Given the description of an element on the screen output the (x, y) to click on. 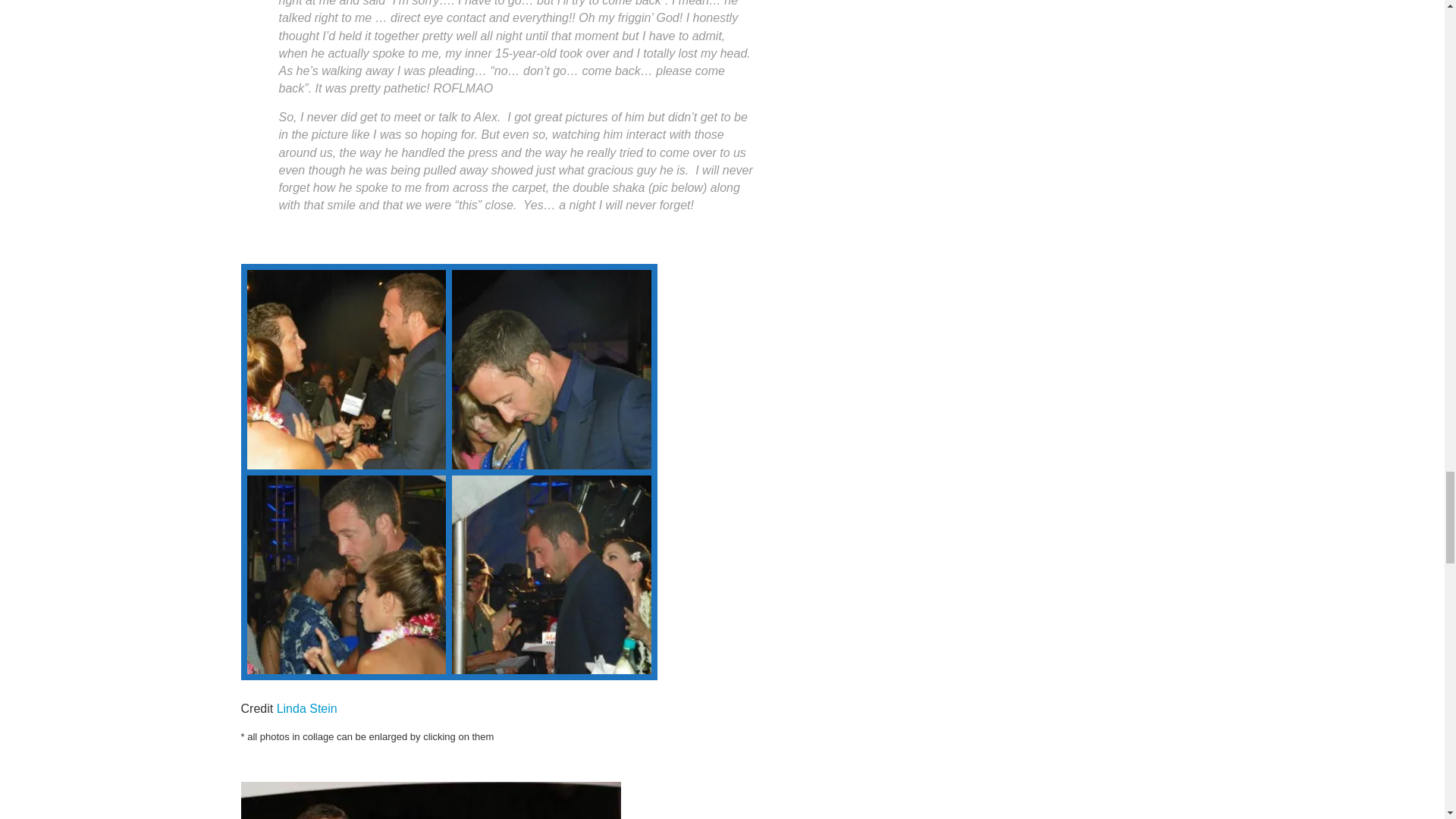
Sunset on the Beach fan experience- alex O'loughlin (346, 369)
Sunset on the Beach fan experience- alex O'loughlin (337, 375)
Sunset on the Beach fan experience- alex O'loughlin (331, 581)
